Given the description of an element on the screen output the (x, y) to click on. 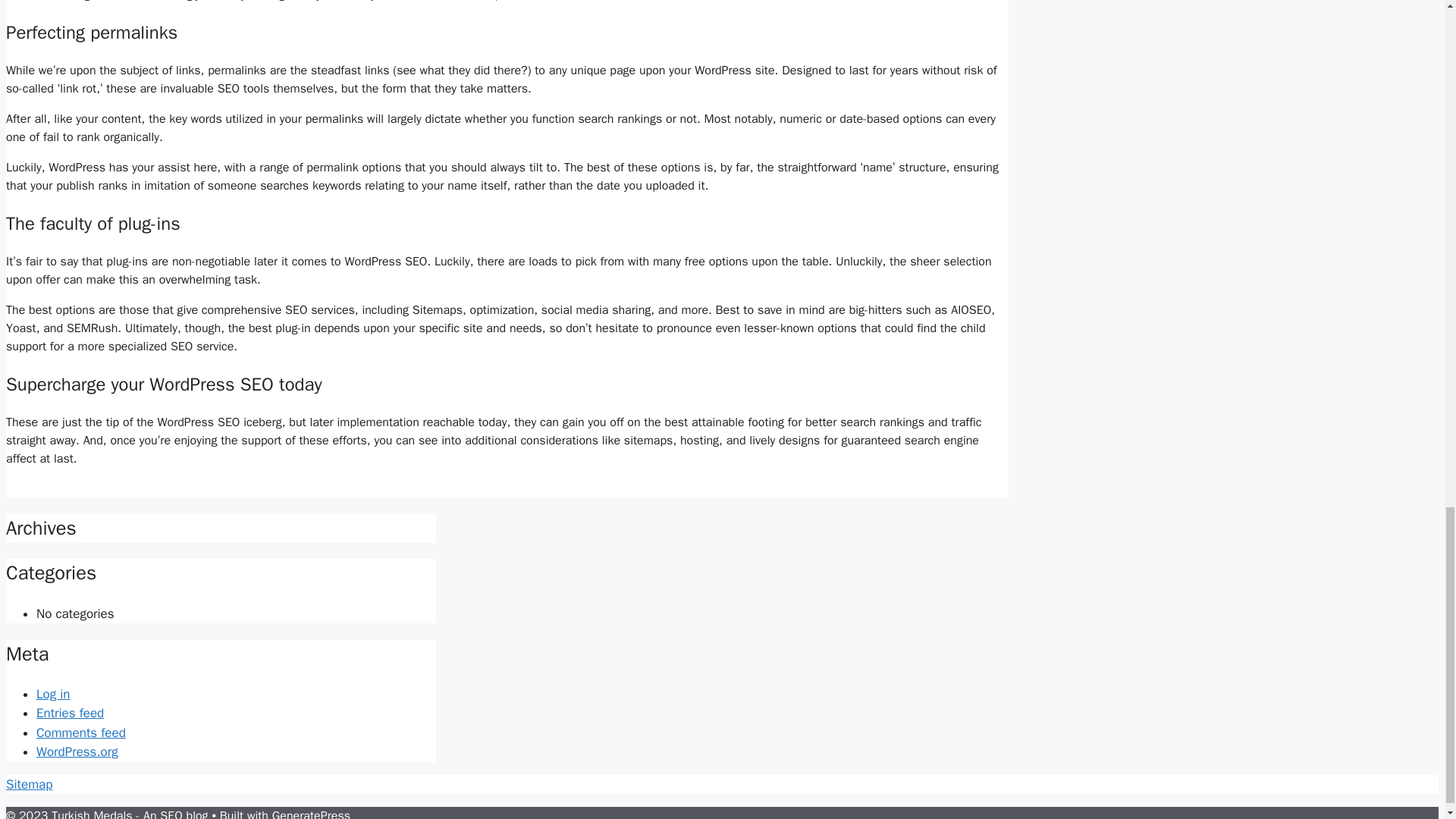
Sitemap (28, 784)
WordPress.org (76, 751)
Entries feed (69, 713)
Log in (52, 693)
Comments feed (80, 732)
